Given the description of an element on the screen output the (x, y) to click on. 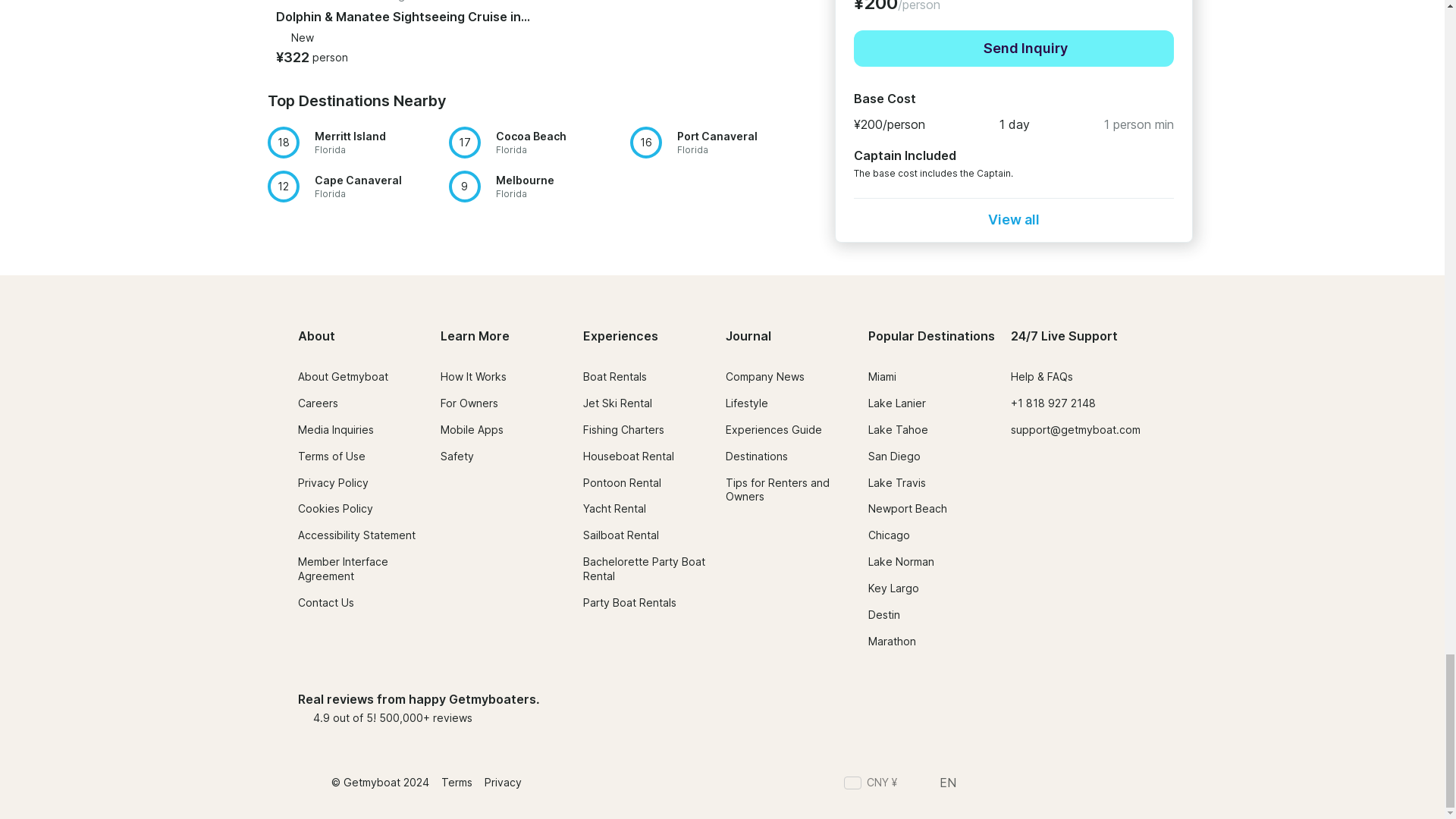
Instagram (1029, 783)
LinkedIn (1056, 783)
YouTube (1139, 783)
Get it on Google Play (1096, 707)
Facebook (975, 783)
Pinterest (1111, 783)
Twitter (1002, 783)
TikTok (1084, 783)
Download on the App Store (977, 707)
